Given the description of an element on the screen output the (x, y) to click on. 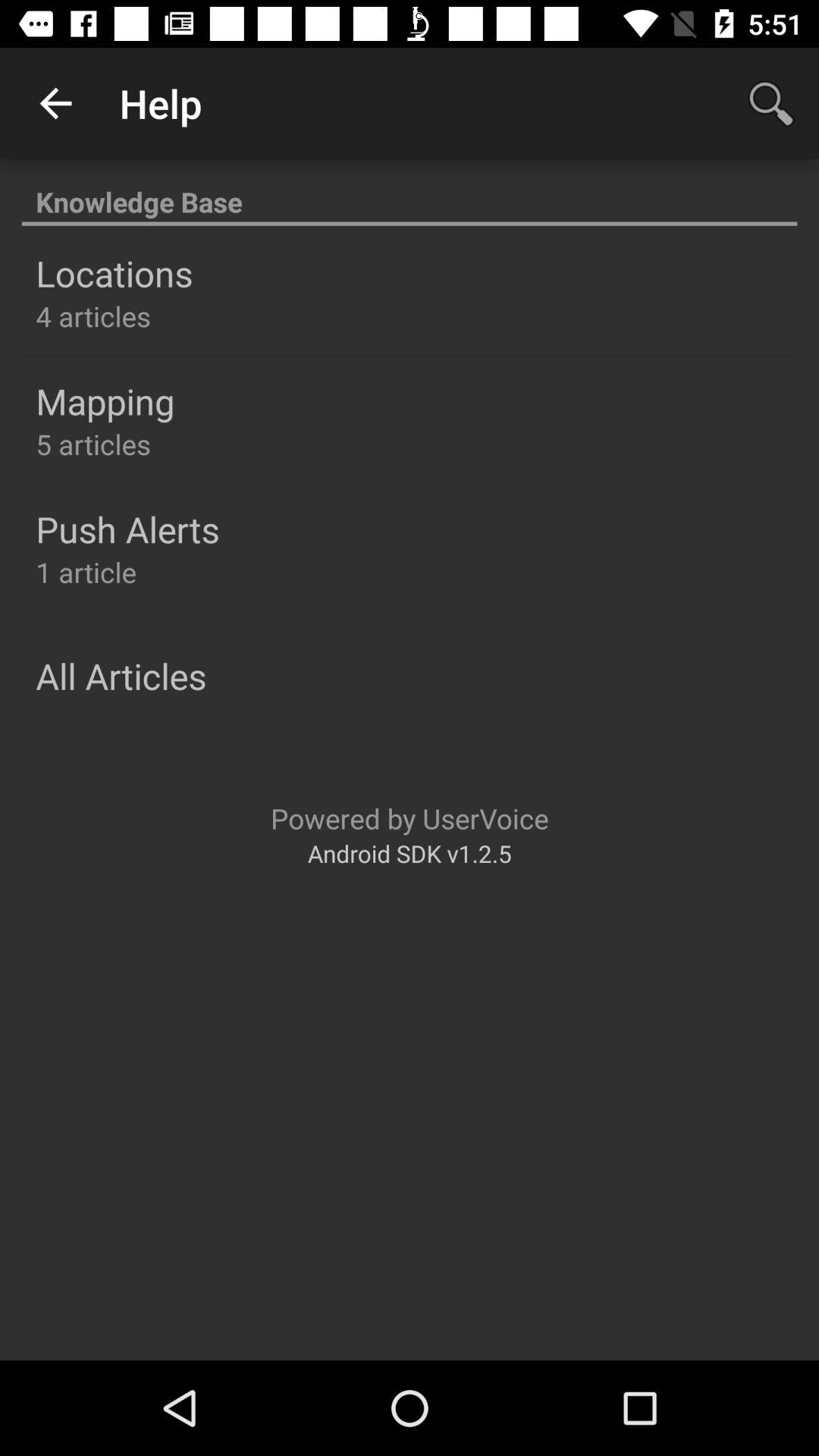
tap all articles (120, 675)
